Given the description of an element on the screen output the (x, y) to click on. 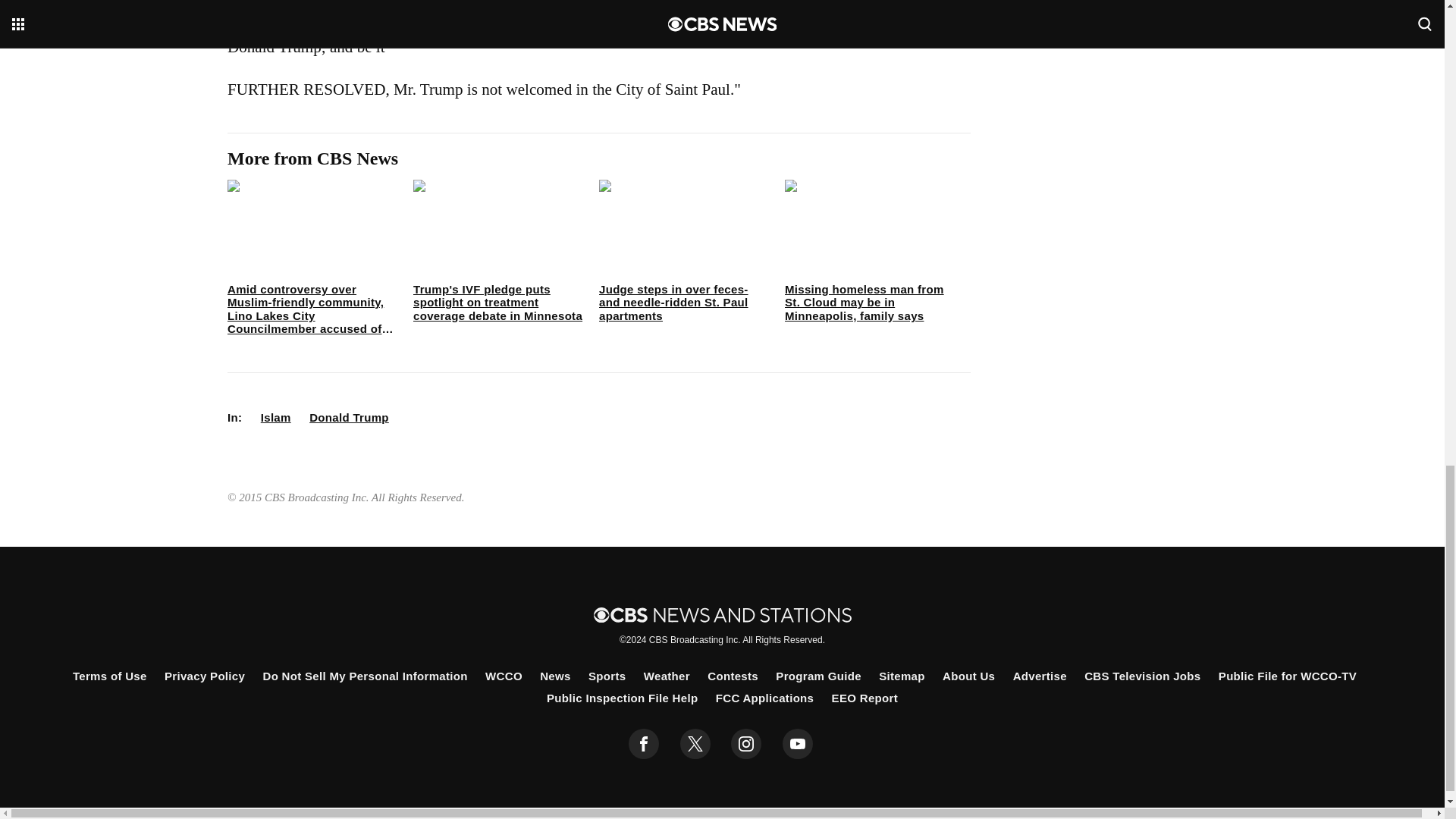
instagram (745, 743)
youtube (797, 743)
twitter (694, 743)
facebook (643, 743)
